Given the description of an element on the screen output the (x, y) to click on. 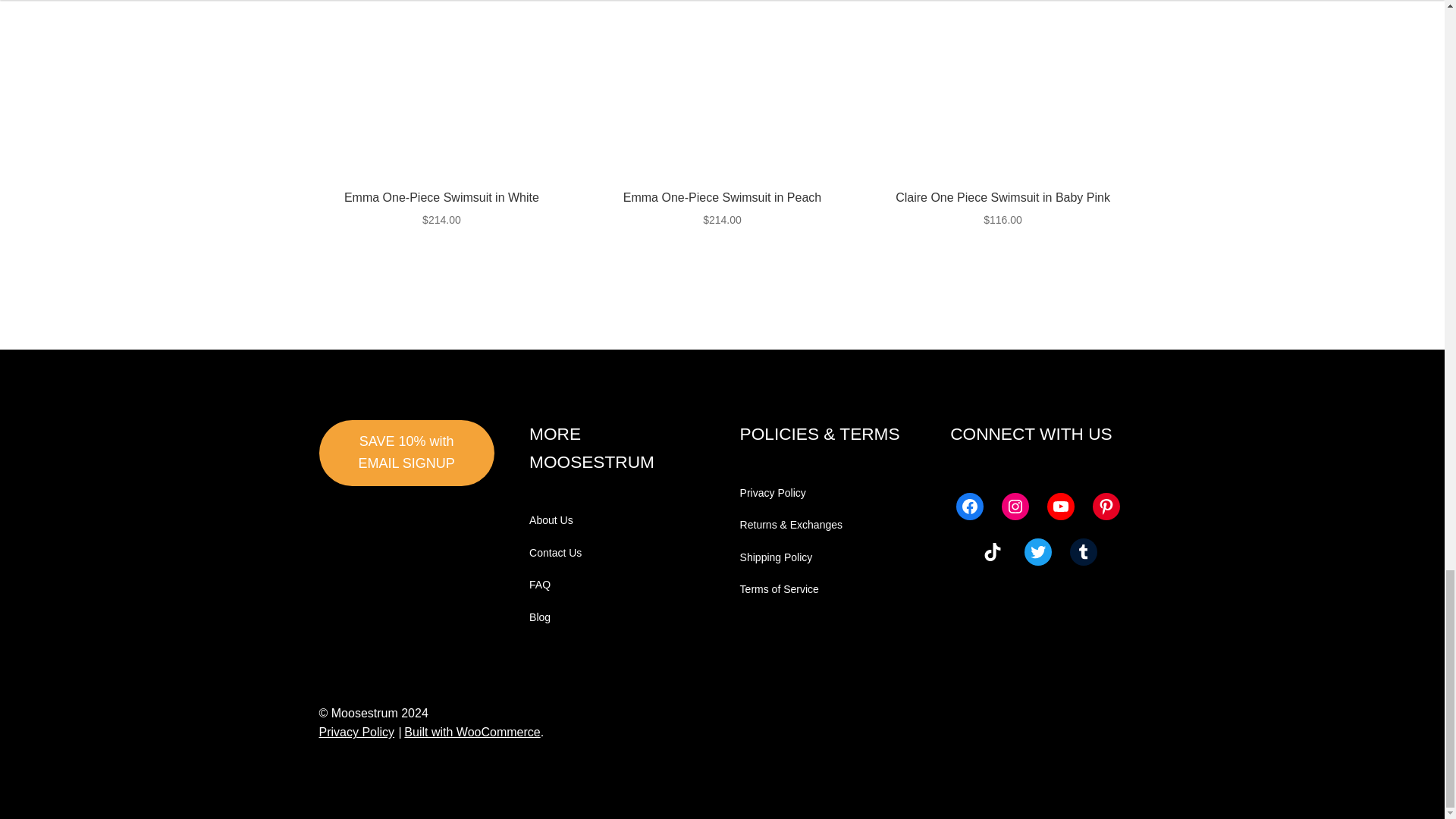
WooCommerce - The Best eCommerce Platform for WordPress (472, 731)
